Given the description of an element on the screen output the (x, y) to click on. 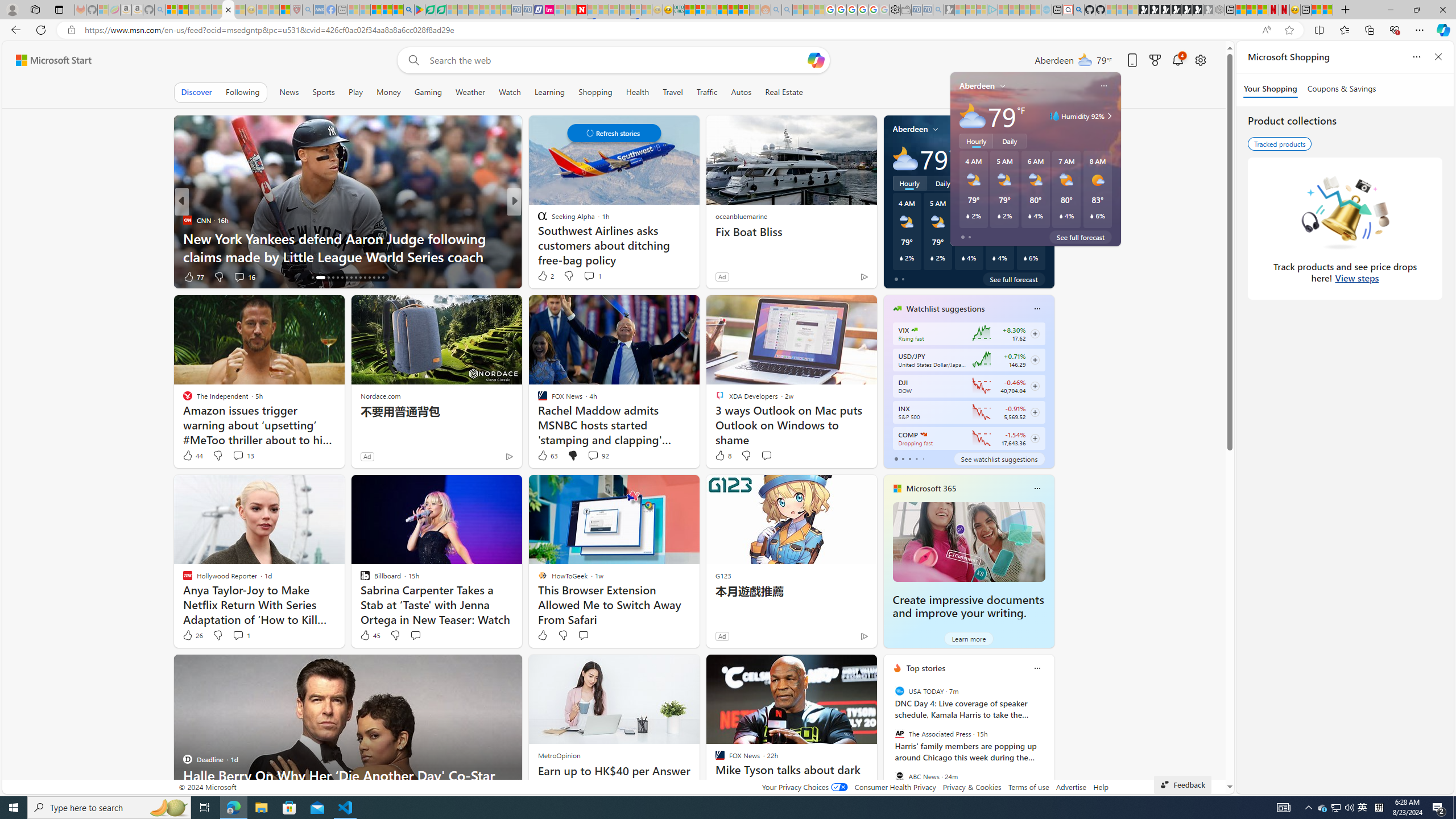
SB Nation (537, 219)
Hide this story (841, 668)
AutomationID: tab-30 (382, 277)
MetroOpinion (558, 755)
